Given the description of an element on the screen output the (x, y) to click on. 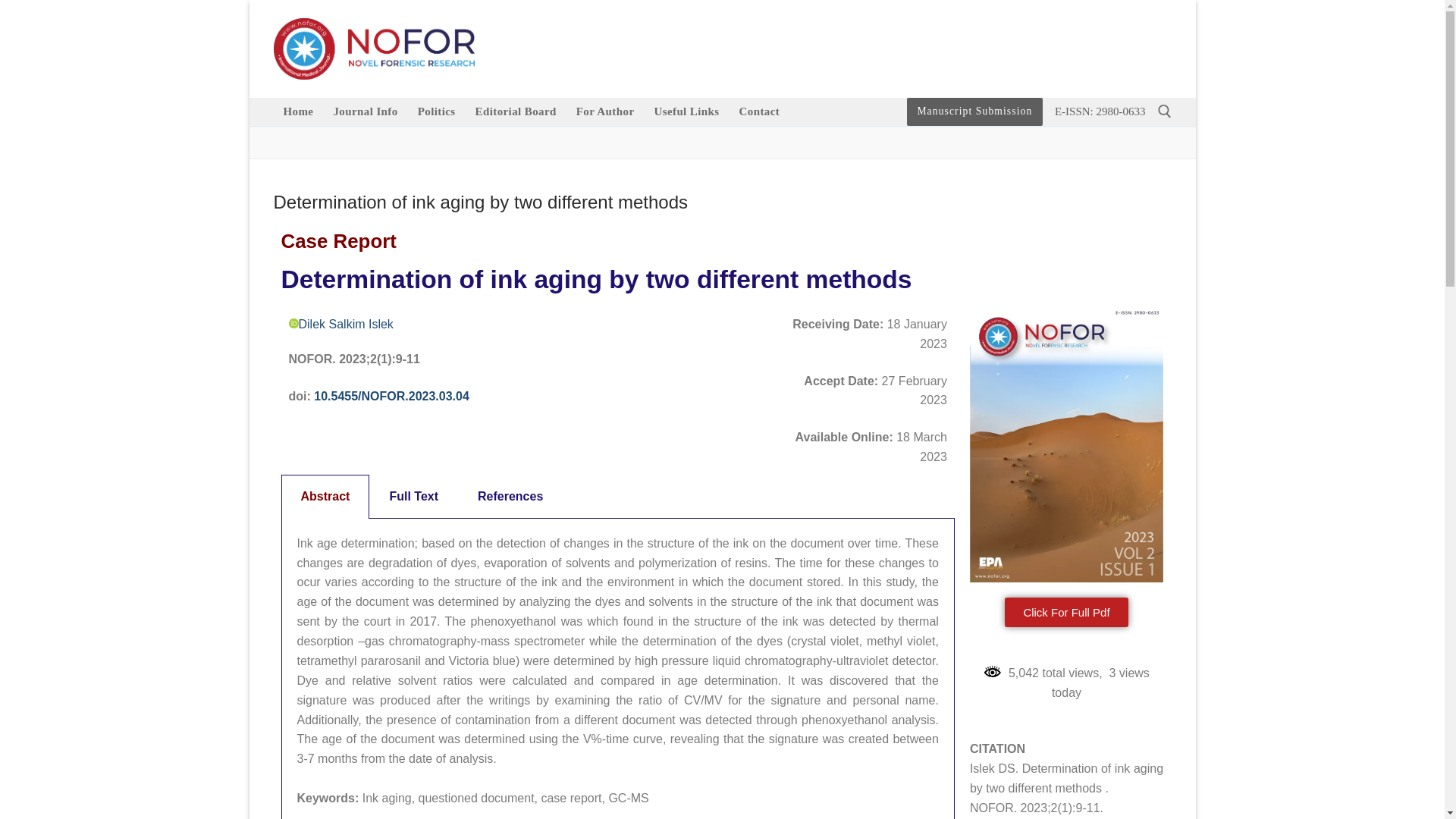
Contact (759, 111)
Editorial Board (515, 111)
Journal Info (365, 111)
Determination of ink aging by two different methods (721, 201)
For Author (605, 111)
Politics (436, 111)
Manuscript Submission (974, 111)
Useful Links (686, 111)
Home (298, 111)
Determination of ink aging by two different methods (721, 201)
